Given the description of an element on the screen output the (x, y) to click on. 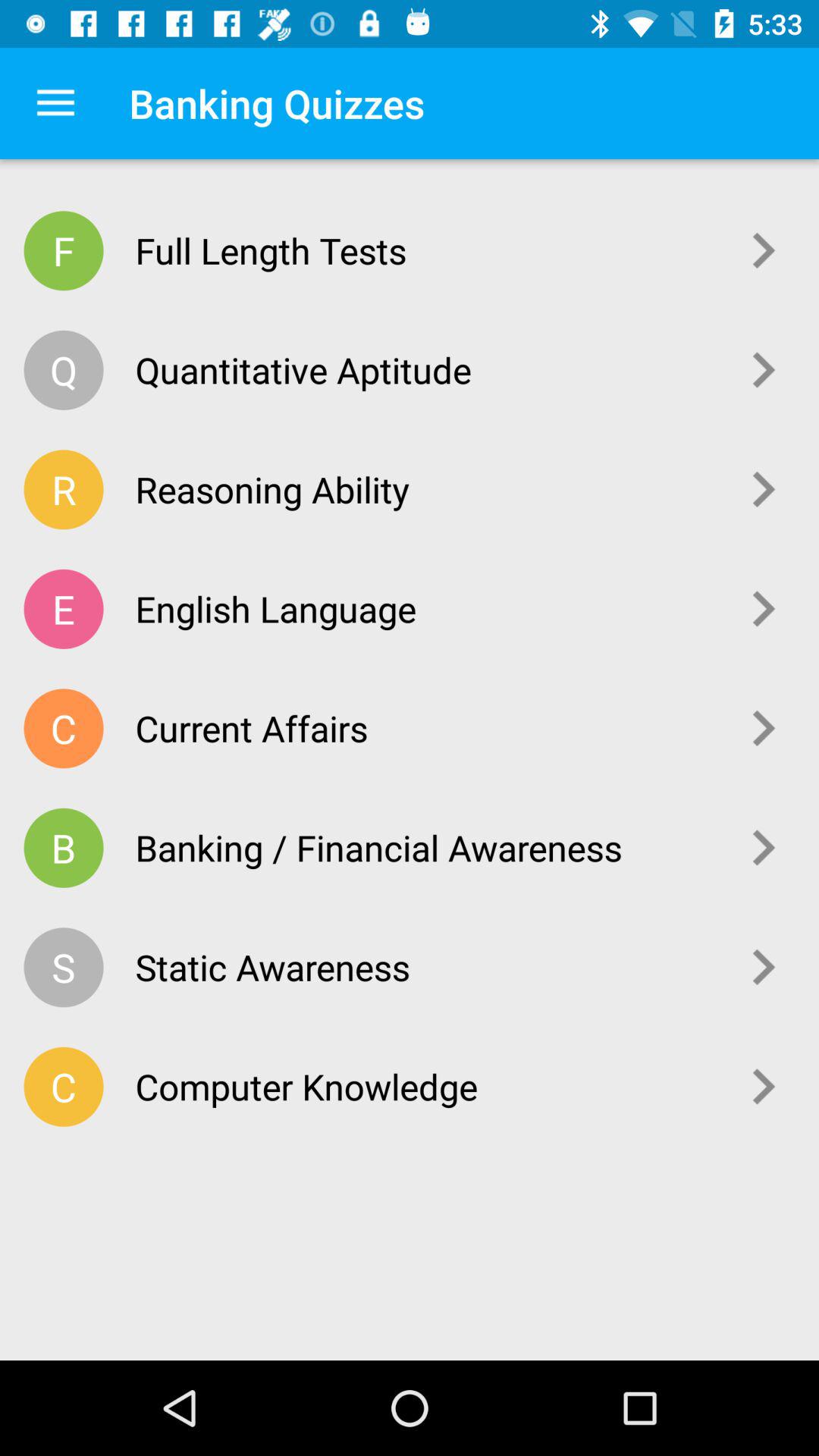
open item to the left of english language item (63, 608)
